Given the description of an element on the screen output the (x, y) to click on. 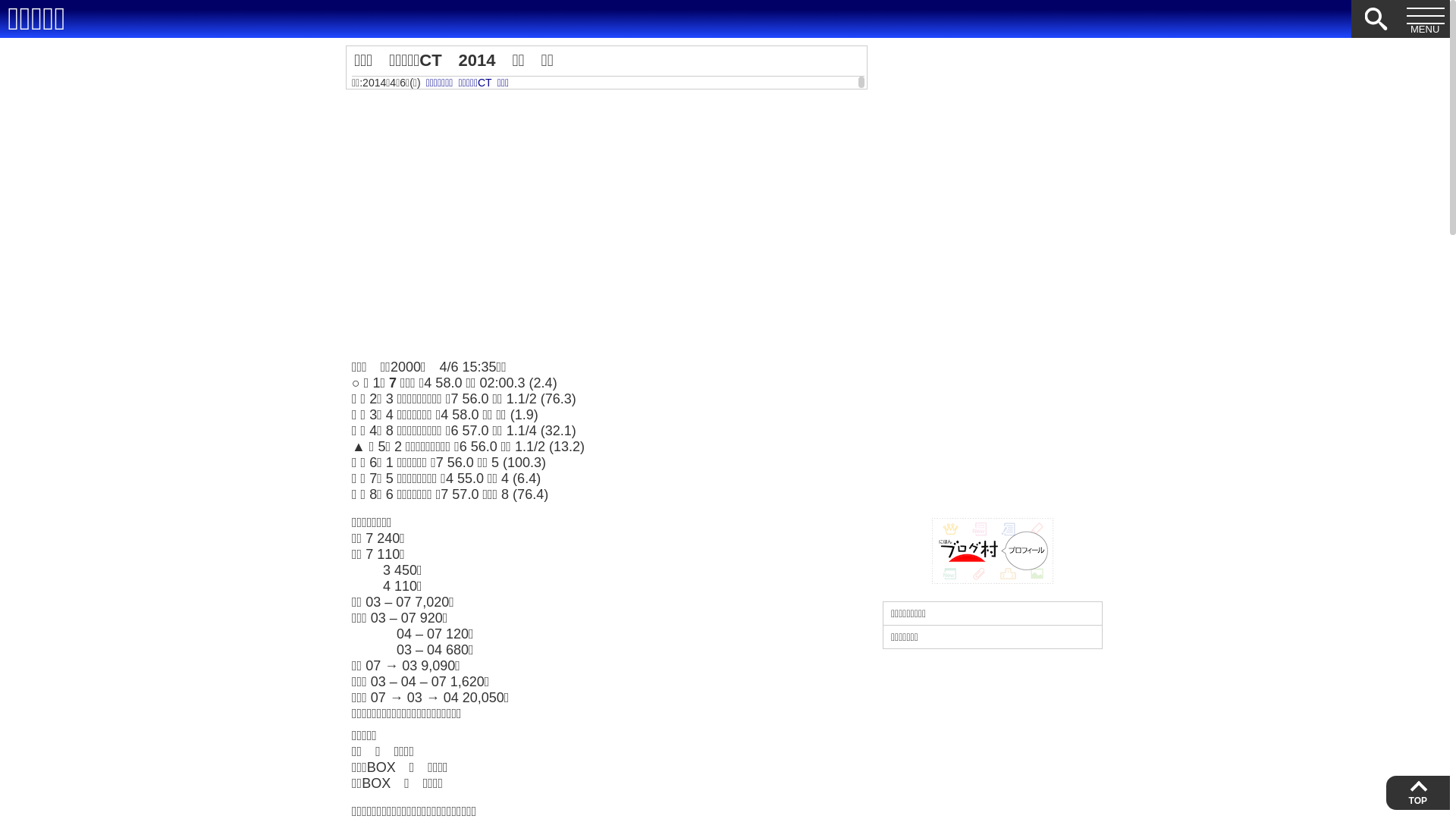
TOP Element type: text (1416, 792)
Advertisement Element type: hover (992, 272)
